Given the description of an element on the screen output the (x, y) to click on. 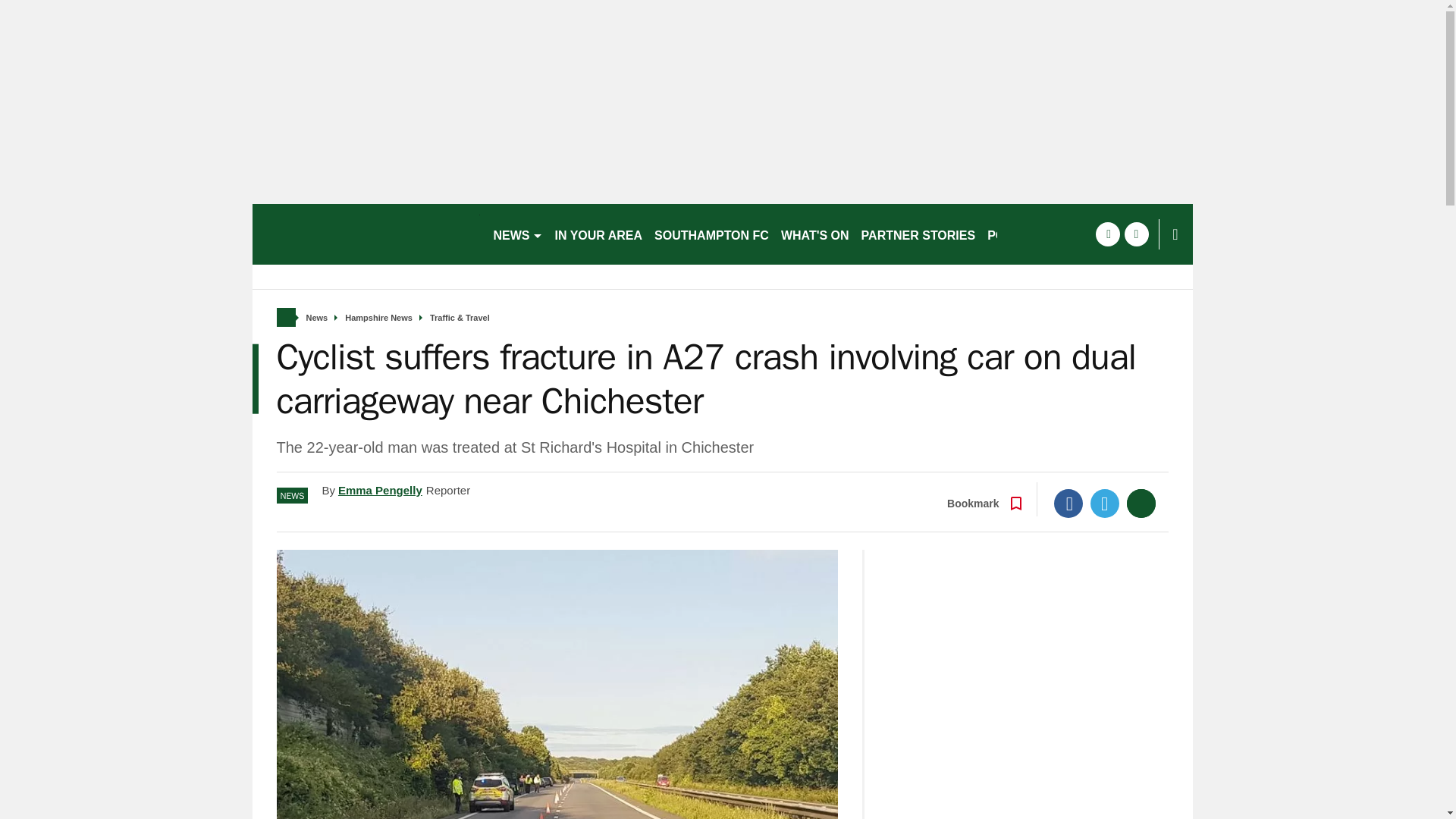
IN YOUR AREA (598, 233)
PORTSMOUTH FC (1040, 233)
hampshirelive (365, 233)
facebook (1106, 233)
Facebook (1068, 502)
NEWS (517, 233)
Twitter (1104, 502)
WHAT'S ON (815, 233)
SOUTHAMPTON FC (710, 233)
twitter (1136, 233)
